Given the description of an element on the screen output the (x, y) to click on. 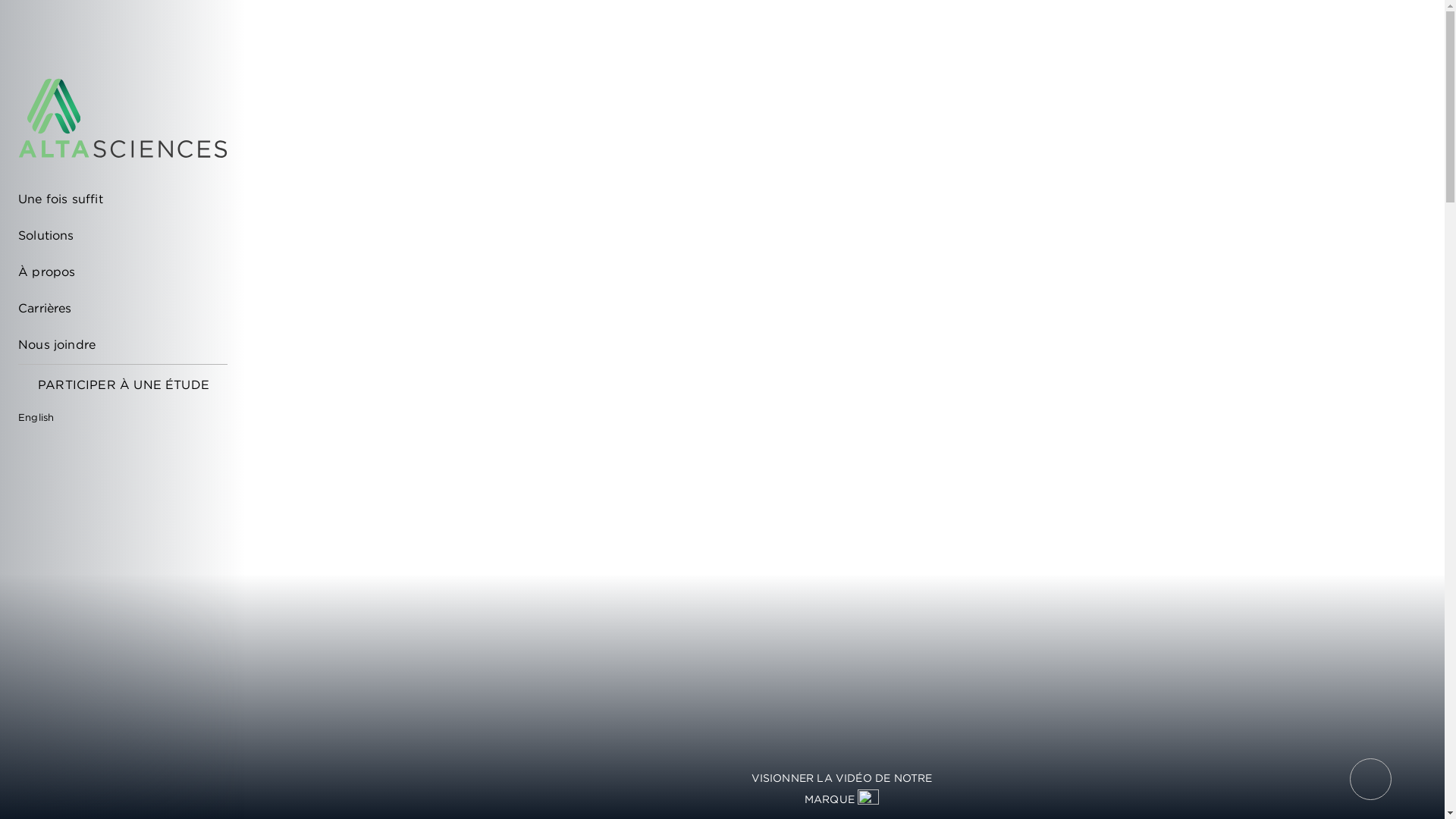
Nous joindre Element type: text (113, 343)
Solutions Element type: text (113, 234)
English Element type: text (43, 417)
Une fois suffit Element type: text (113, 198)
